Given the description of an element on the screen output the (x, y) to click on. 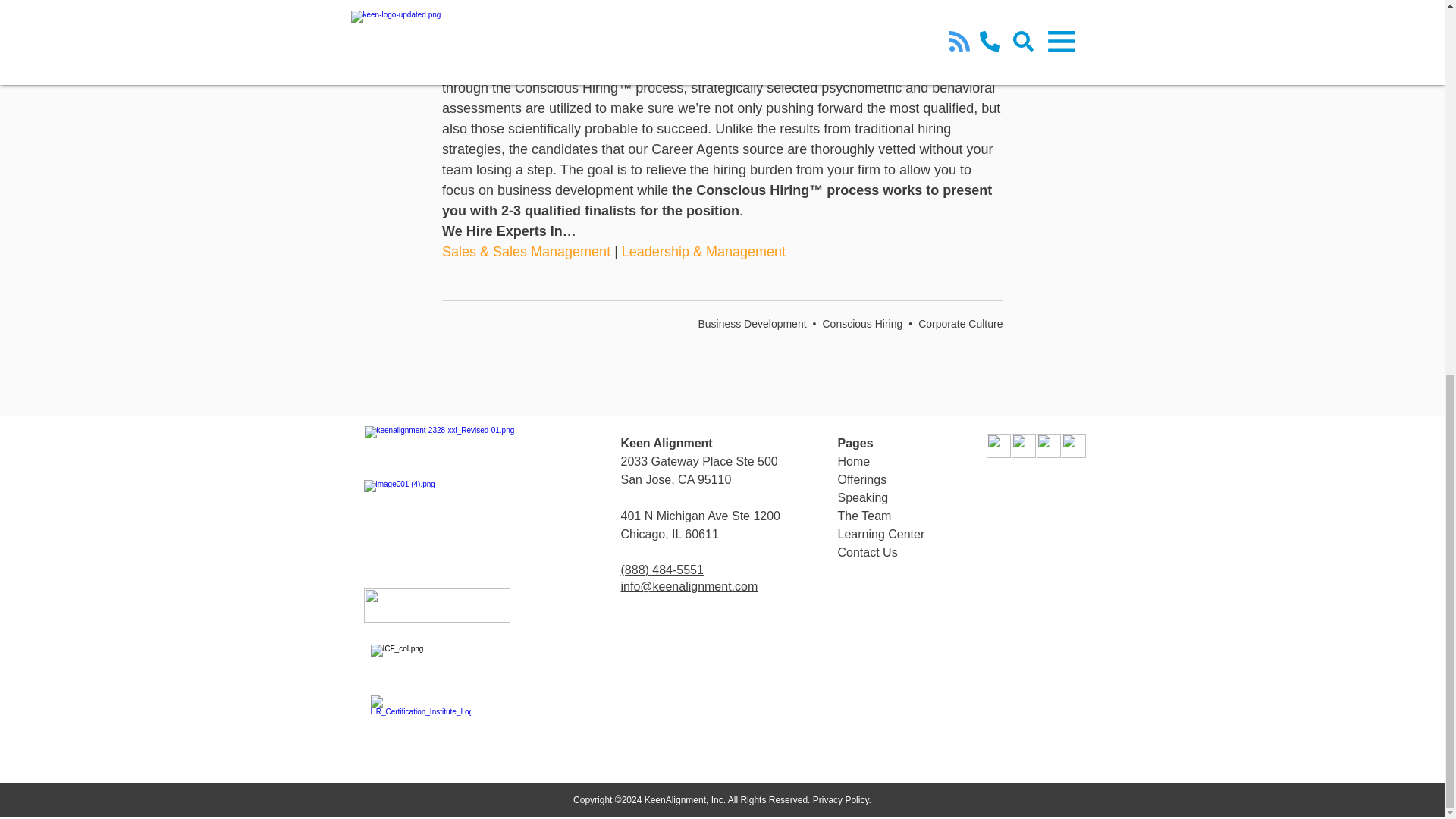
Speaking (862, 497)
Corporate Culture (960, 323)
Business Development (751, 323)
Conscious Hiring (862, 323)
Contact Us (866, 552)
The Team (864, 515)
Learning Center (880, 533)
Home (853, 461)
FBC-Signature.png (437, 605)
Offerings (861, 479)
